Given the description of an element on the screen output the (x, y) to click on. 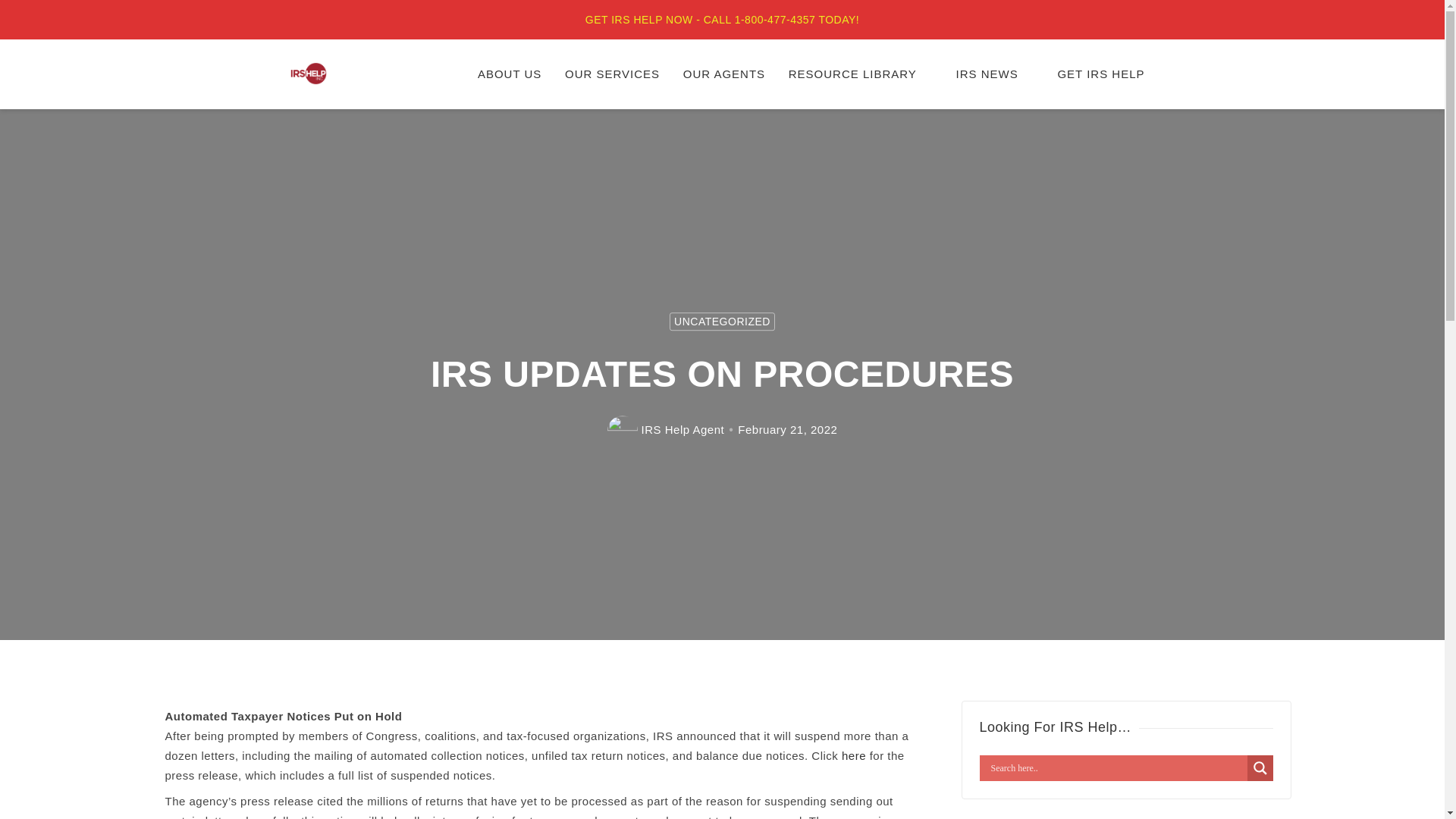
ABOUT US (509, 73)
RESOURCE LIBRARY (860, 73)
IRS Help Agent (683, 429)
February 21, 2022 (787, 429)
here (853, 755)
OUR AGENTS (723, 73)
OUR SERVICES (611, 73)
UNCATEGORIZED (721, 321)
IRS Help, Inc (409, 82)
GET IRS HELP (1100, 73)
